Given the description of an element on the screen output the (x, y) to click on. 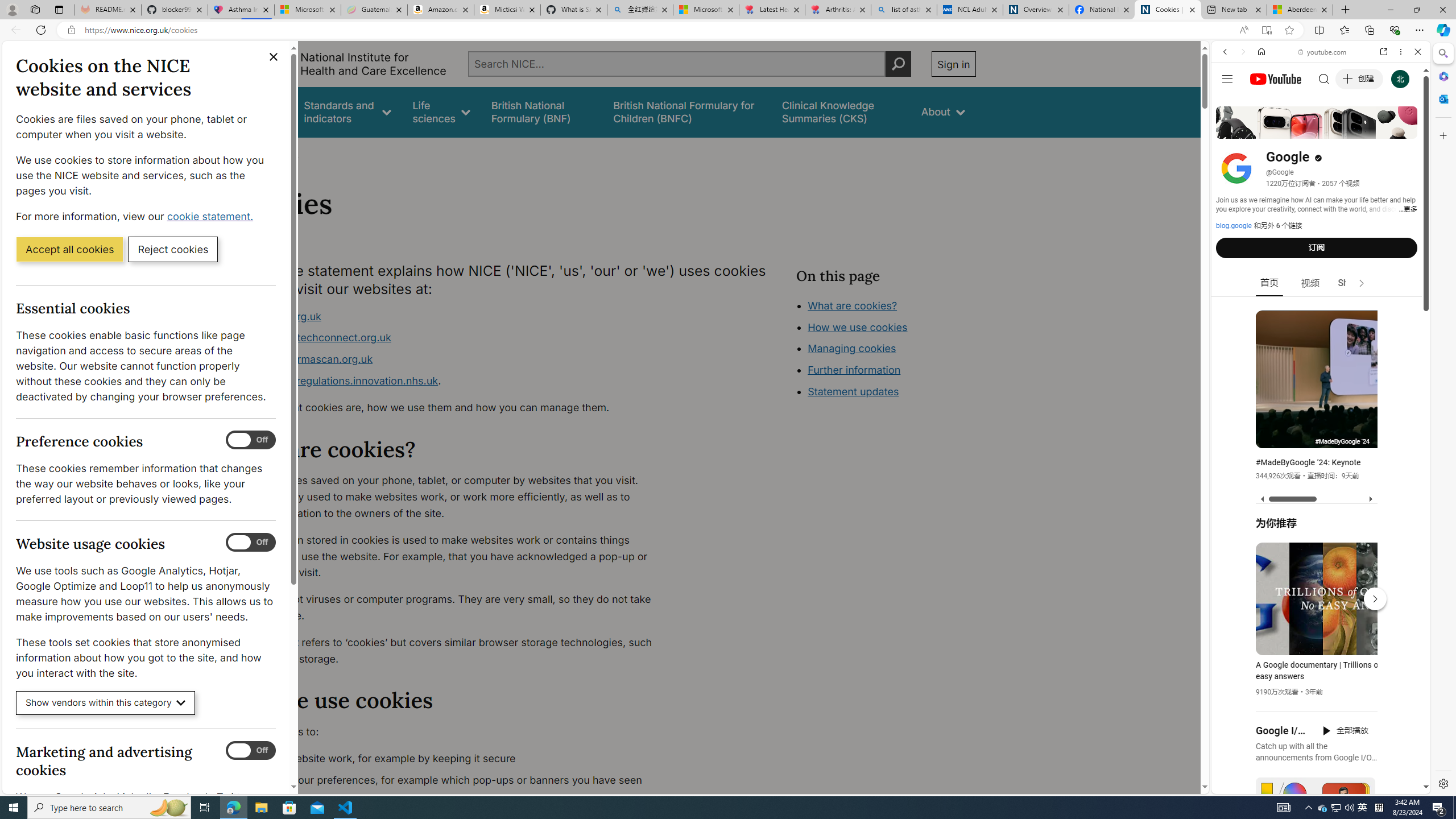
Class: in-page-nav__list (884, 349)
false (841, 111)
Statement updates (853, 391)
www.healthtechconnect.org.uk (452, 338)
www.healthtechconnect.org.uk (314, 337)
